Given the description of an element on the screen output the (x, y) to click on. 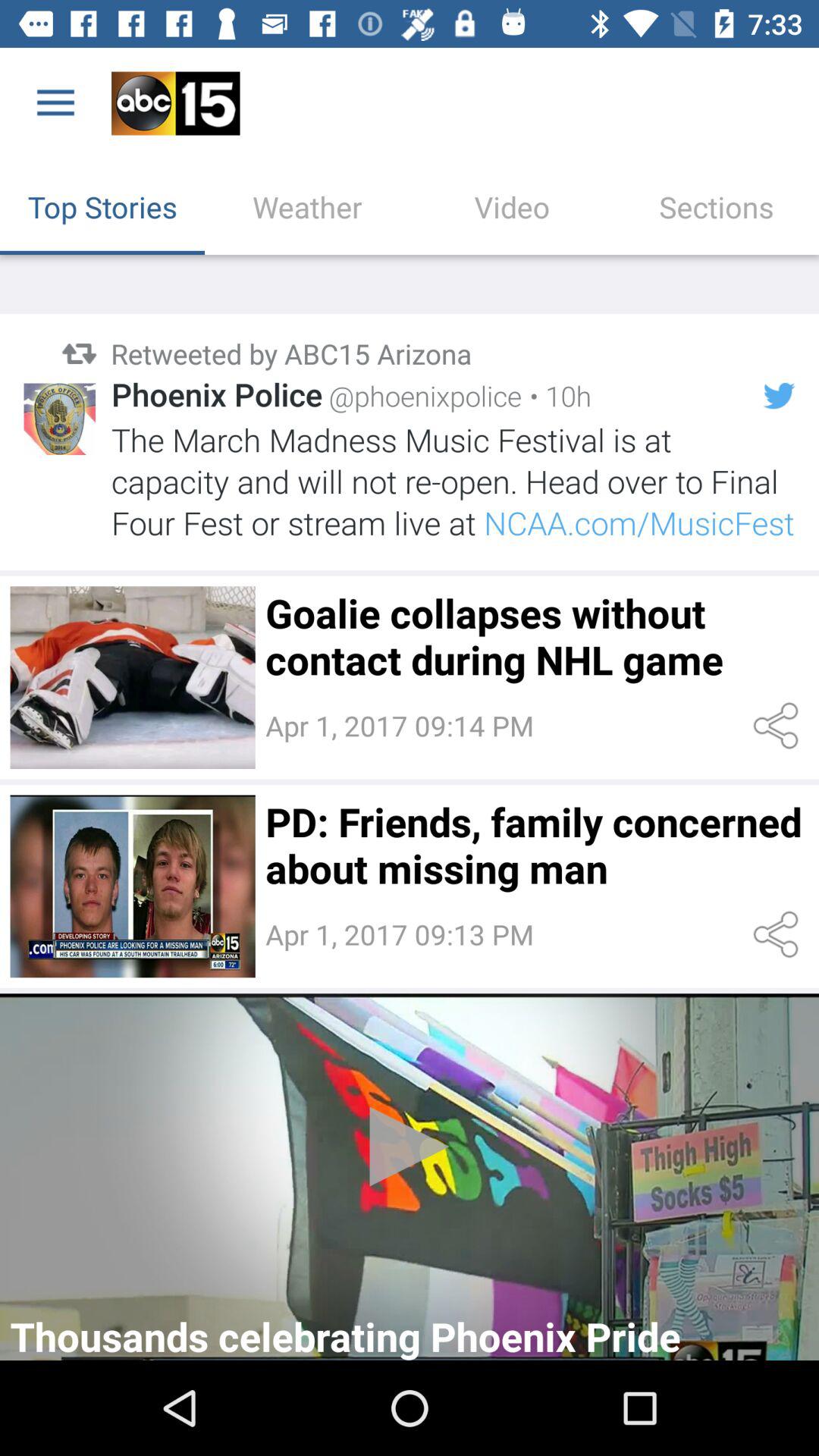
view a video (409, 1176)
